Given the description of an element on the screen output the (x, y) to click on. 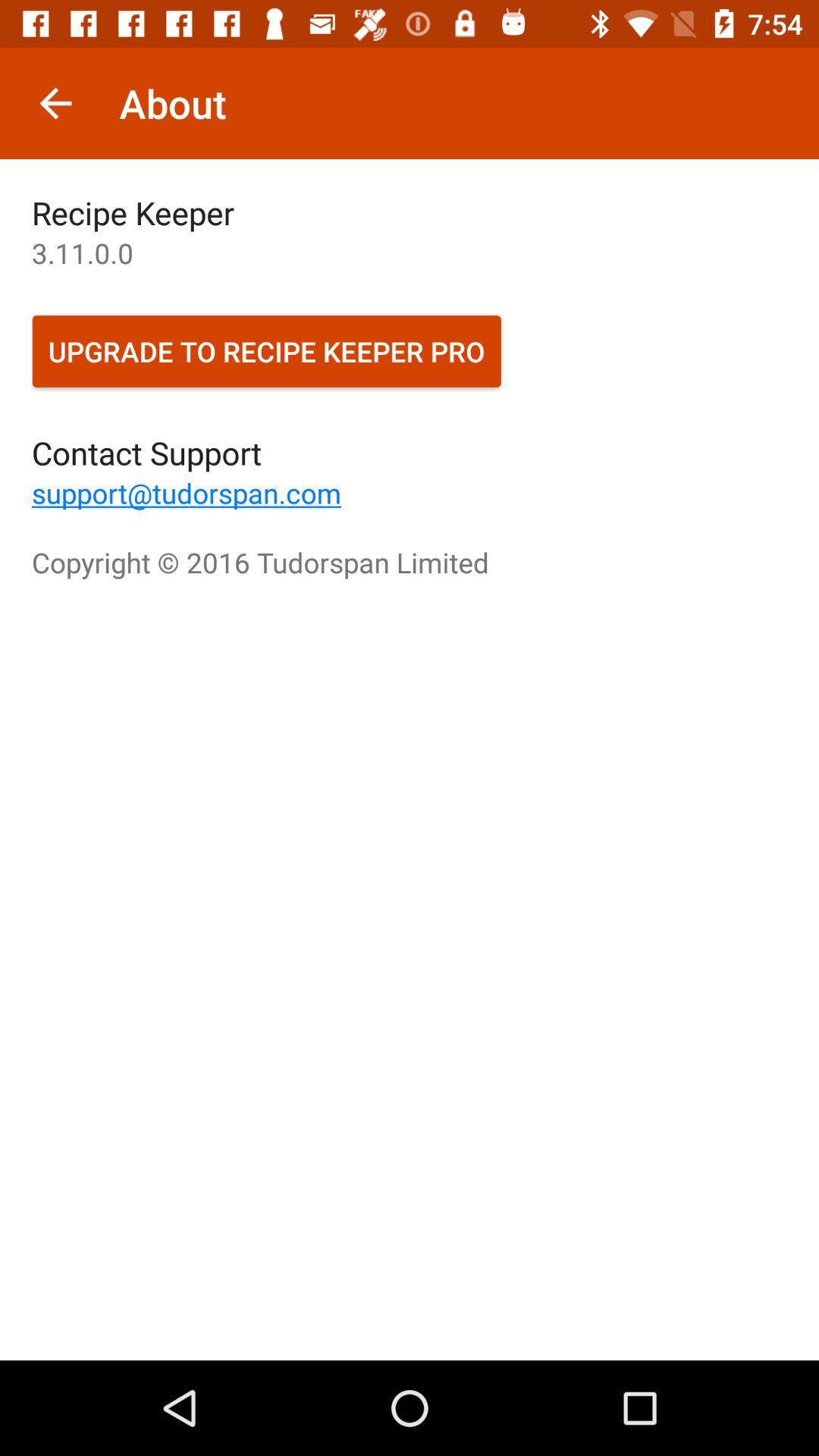
launch the upgrade to recipe icon (266, 351)
